Given the description of an element on the screen output the (x, y) to click on. 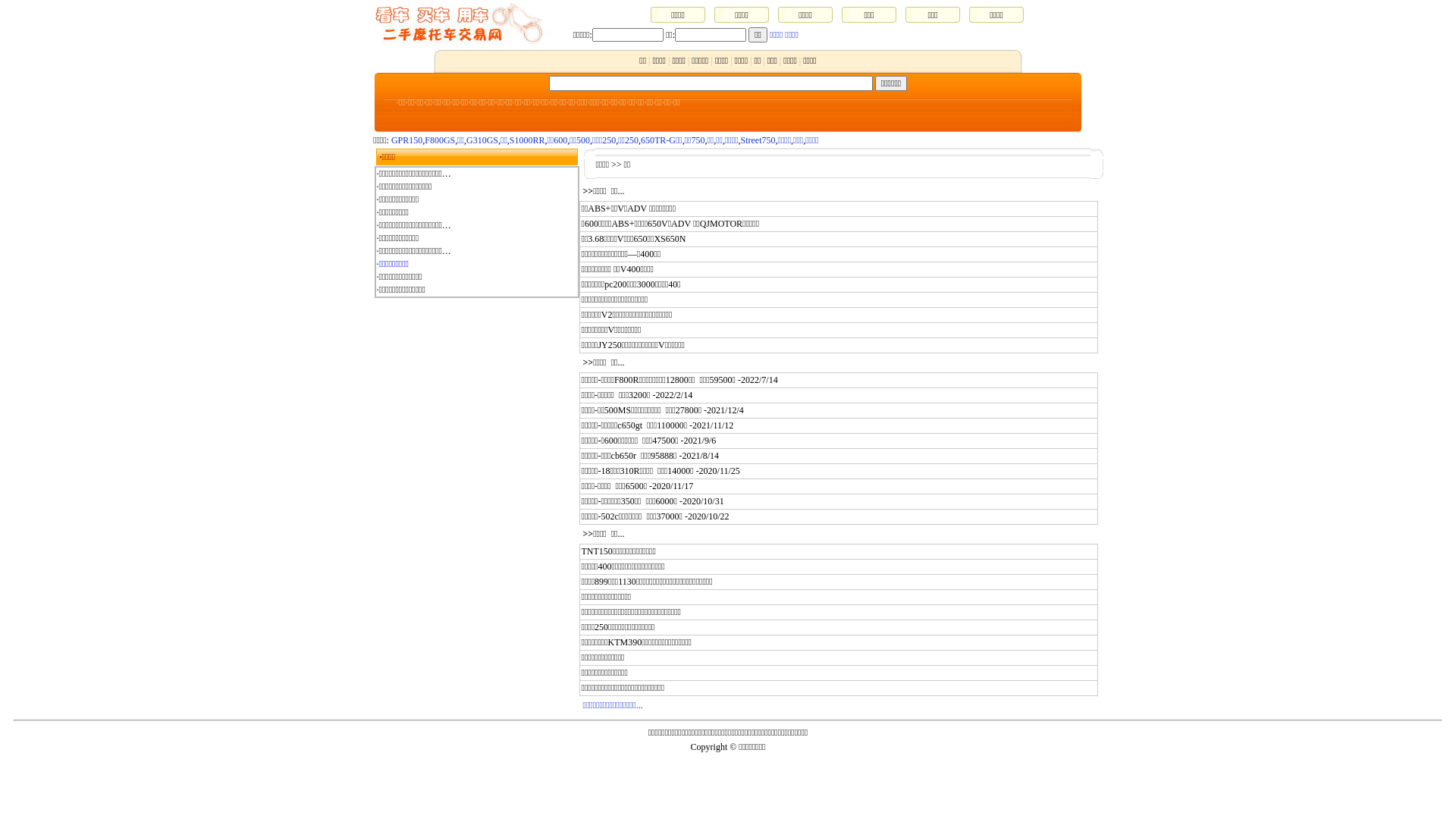
GPR150 Element type: text (406, 139)
G310GS Element type: text (482, 139)
Street750 Element type: text (757, 139)
S1000RR Element type: text (527, 139)
F800GS Element type: text (439, 139)
